Given the description of an element on the screen output the (x, y) to click on. 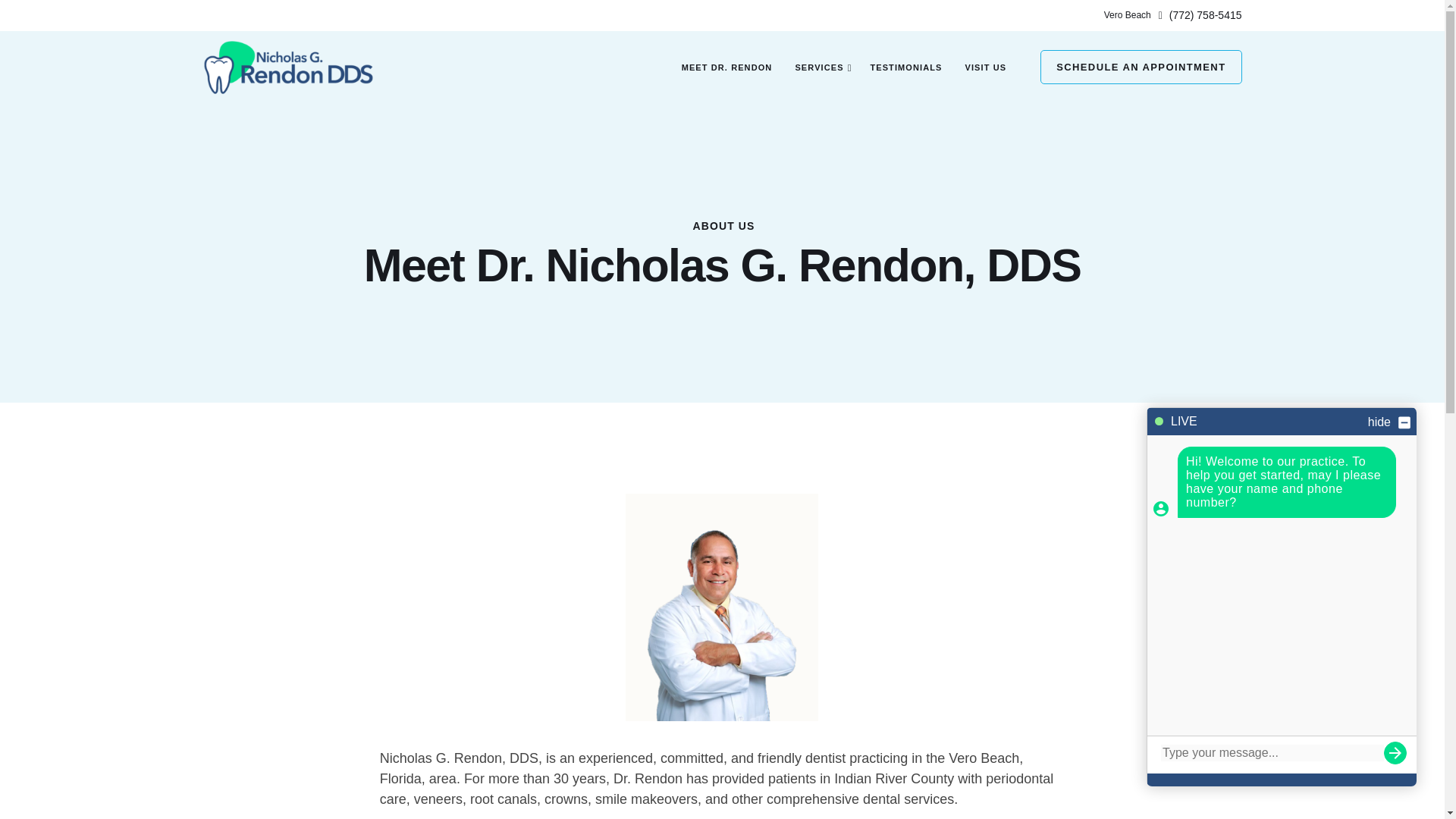
SCHEDULE AN APPOINTMENT (1141, 66)
MEET DR. RENDON (727, 67)
TESTIMONIALS (905, 67)
Nicholas G. Rendon, DDS (288, 66)
